Given the description of an element on the screen output the (x, y) to click on. 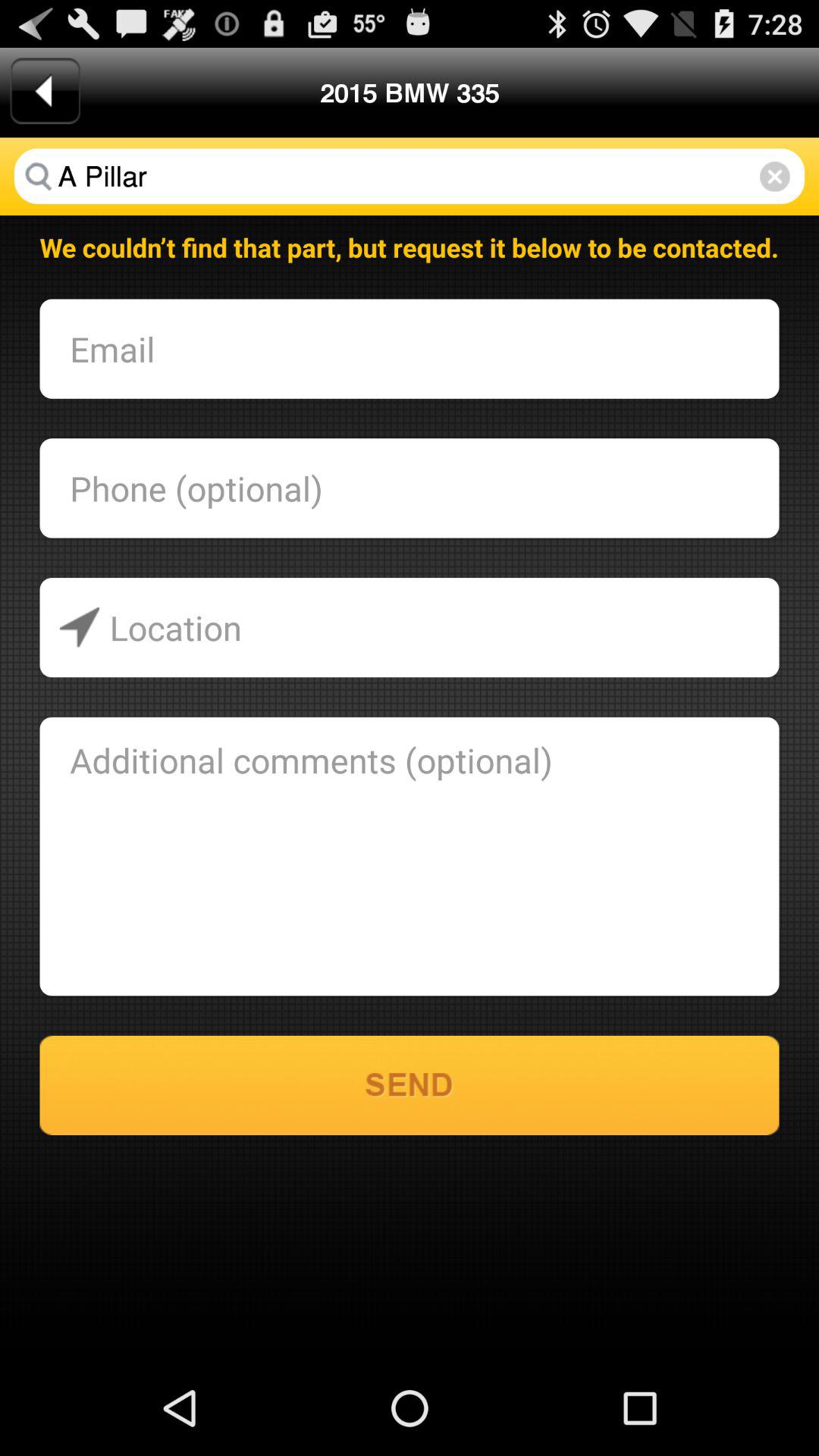
click the app next to the 2015 bmw 335 (45, 90)
